Given the description of an element on the screen output the (x, y) to click on. 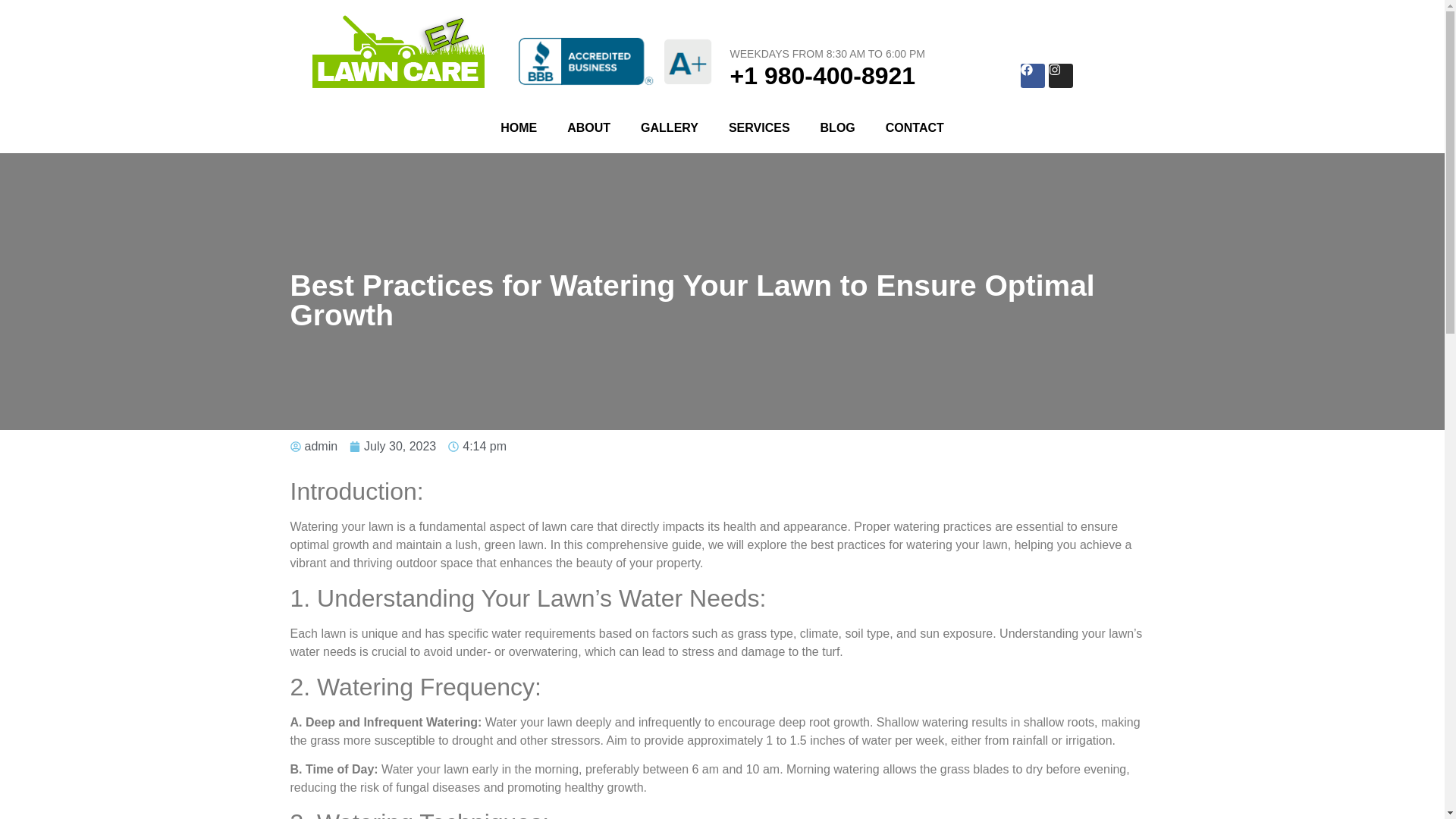
CONTACT (914, 127)
HOME (517, 127)
ABOUT (588, 127)
July 30, 2023 (392, 446)
GALLERY (669, 127)
admin (313, 446)
BLOG (837, 127)
SERVICES (759, 127)
